Given the description of an element on the screen output the (x, y) to click on. 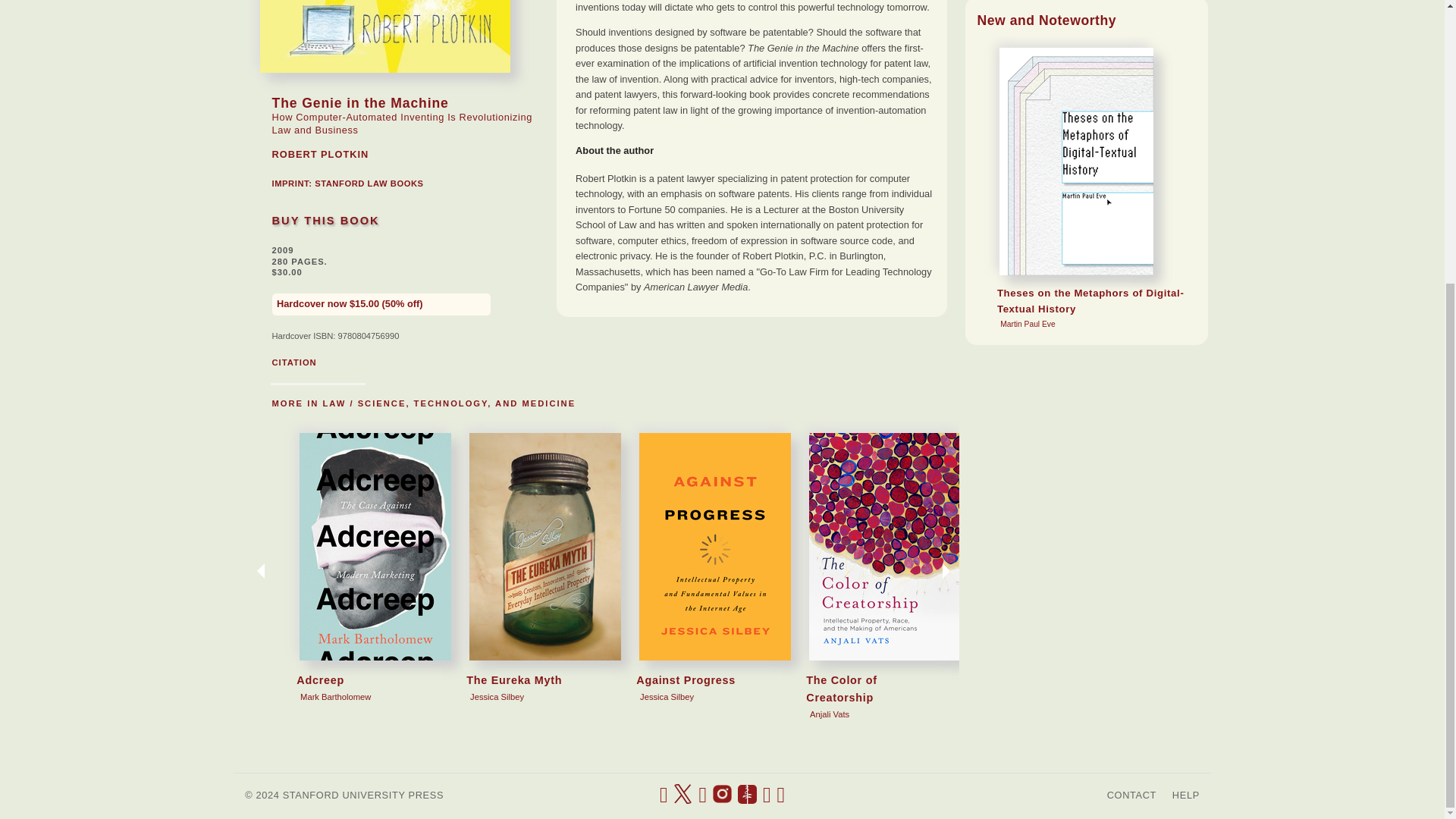
Join the conversation on X. (682, 794)
STANFORD LAW BOOKS (368, 183)
Subscribe to our RSS feed. (766, 794)
Author interviews, readings, TED talks, and more. (702, 794)
Join the conversation on Facebook (663, 794)
BUY THIS BOOK (324, 220)
Subscribe to Email Alerts. (781, 794)
CITATION (292, 361)
Subscribe to our Instagram feed! (722, 794)
Read the latest on the 'SUP Blog. (747, 794)
